Given the description of an element on the screen output the (x, y) to click on. 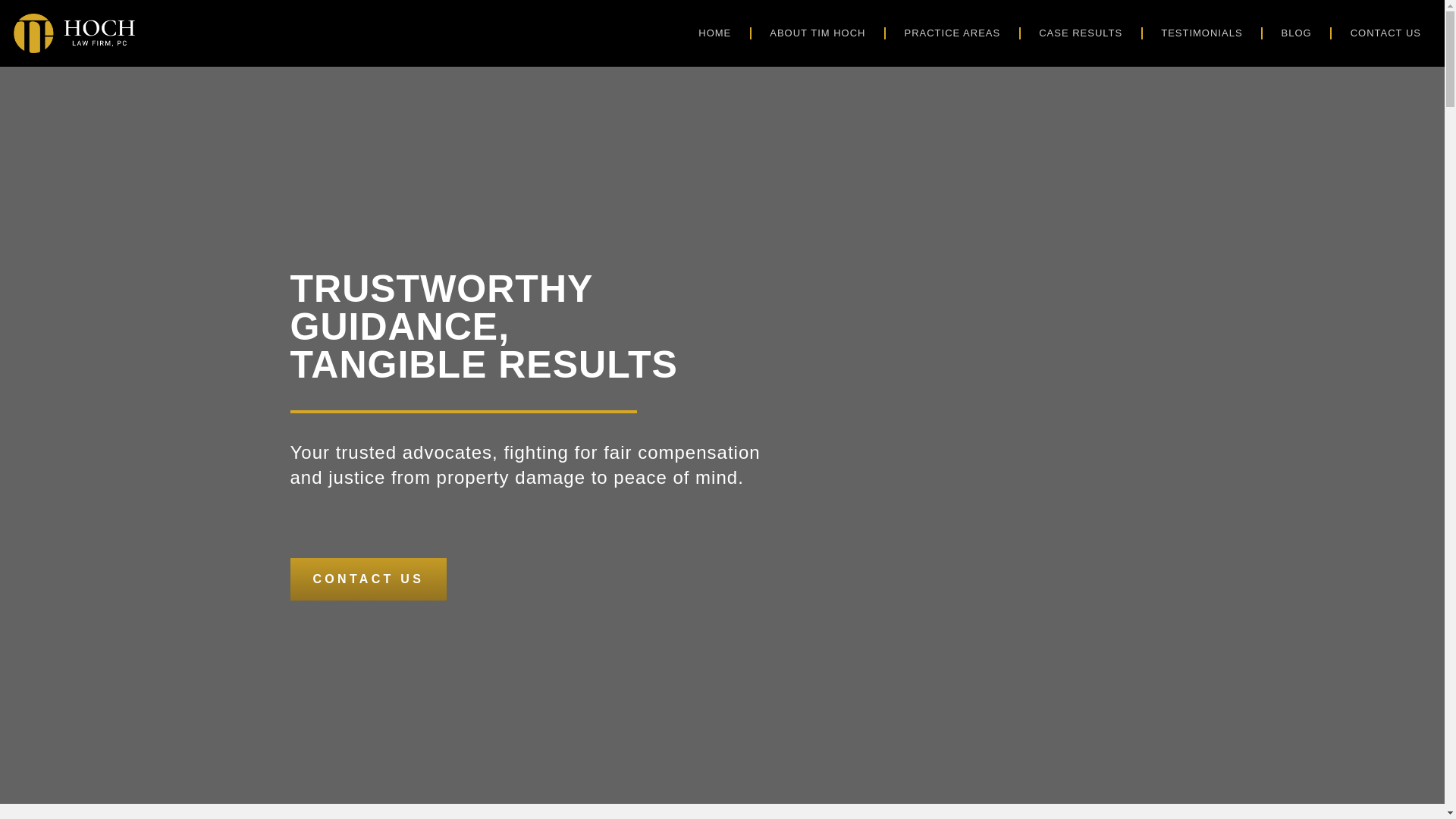
CASE RESULTS (1080, 32)
CONTACT US (1384, 32)
HOME (713, 32)
ABOUT TIM HOCH (817, 32)
BLOG (1296, 32)
TESTIMONIALS (1200, 32)
PRACTICE AREAS (952, 32)
